Given the description of an element on the screen output the (x, y) to click on. 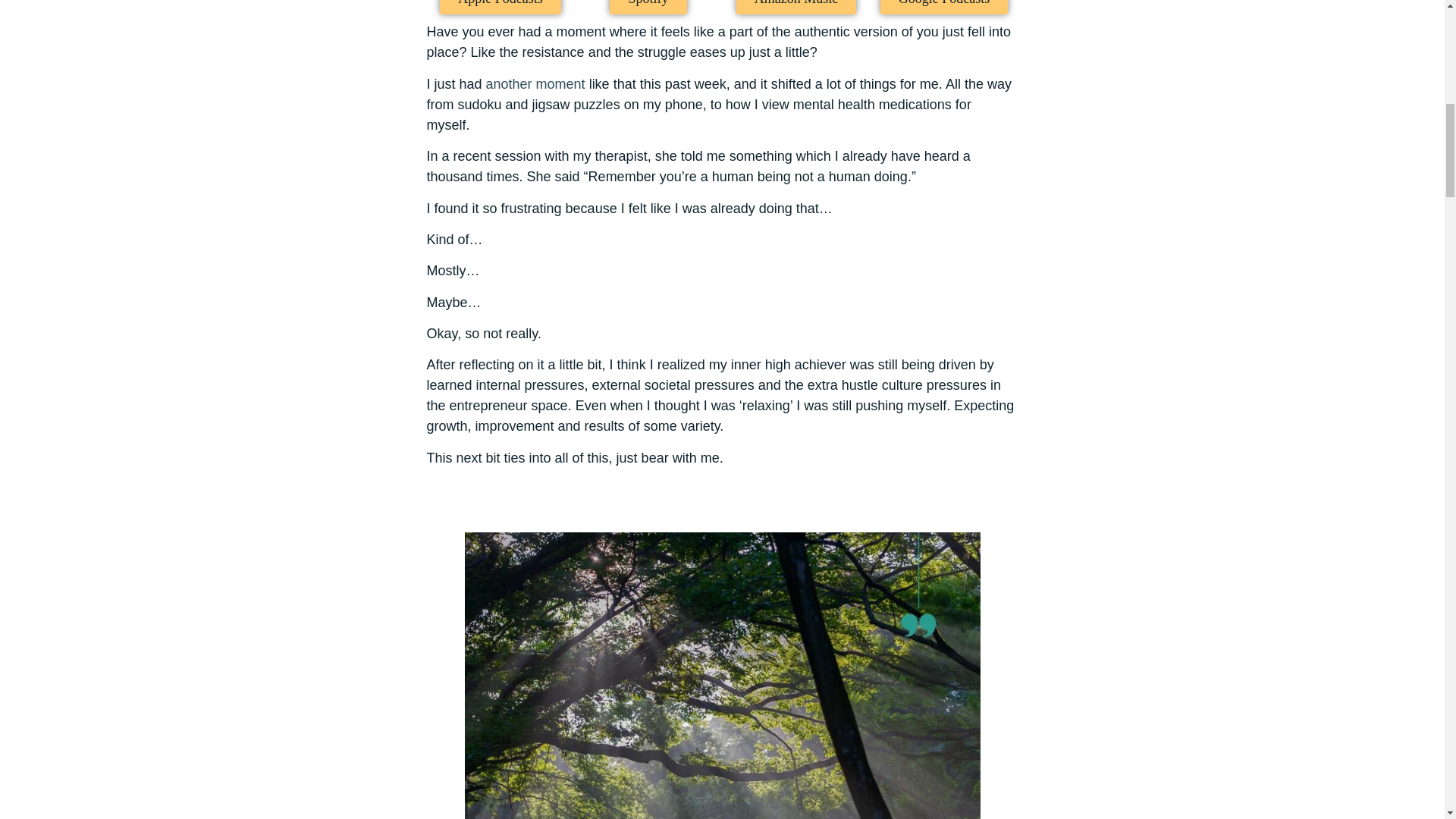
Apple Podcasts (499, 7)
another moment (535, 83)
Amazon Music (796, 7)
Google Podcasts (944, 7)
Spotify (647, 7)
